Given the description of an element on the screen output the (x, y) to click on. 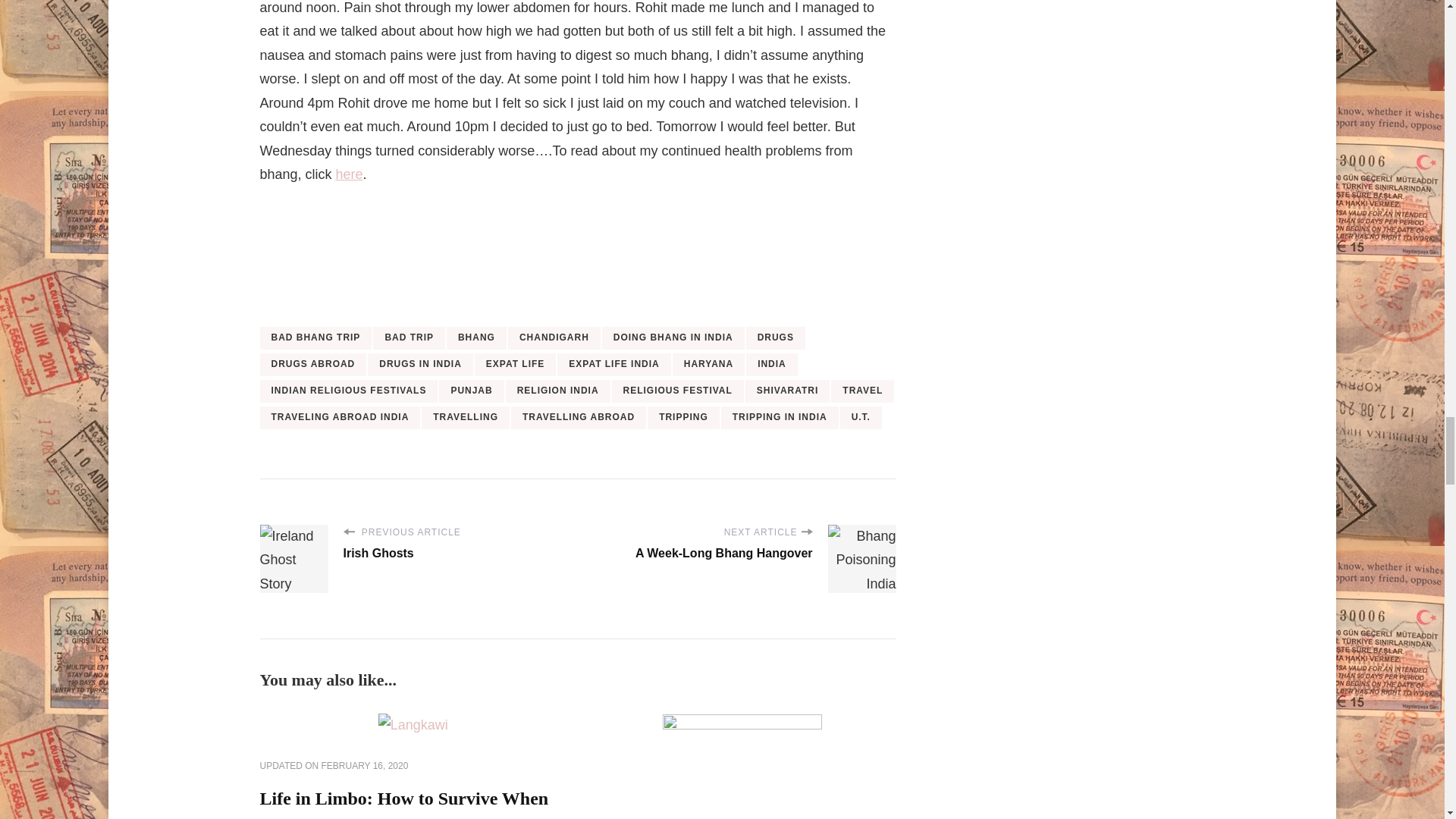
here (349, 174)
PUNJAB (471, 391)
SHIVARATRI (787, 391)
INDIAN RELIGIOUS FESTIVALS (348, 391)
BAD BHANG TRIP (315, 337)
RELIGION INDIA (557, 391)
HARYANA (708, 363)
DRUGS ABROAD (312, 363)
CHANDIGARH (553, 337)
EXPAT LIFE (515, 363)
